Given the description of an element on the screen output the (x, y) to click on. 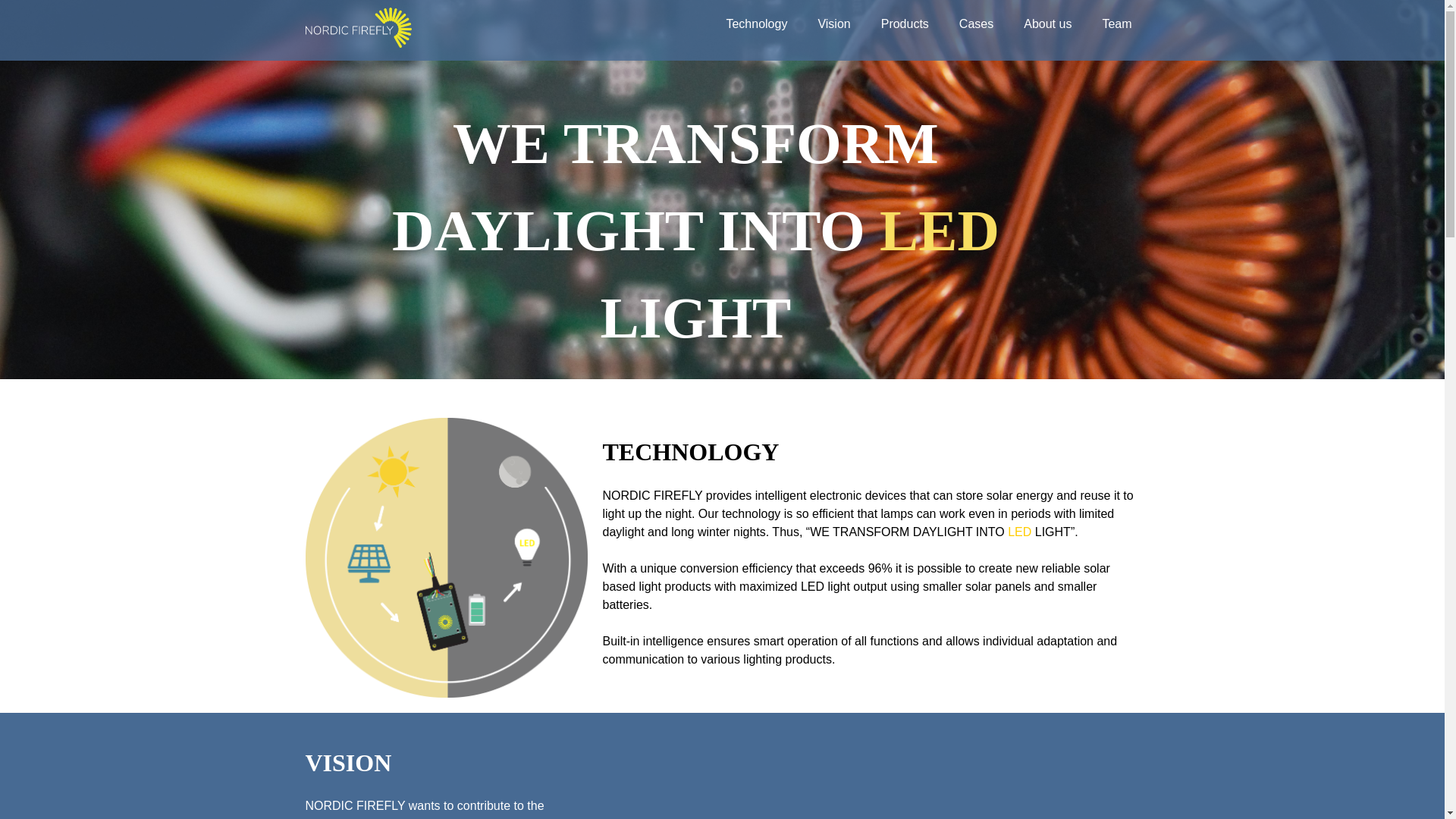
Vision (833, 24)
Cases (975, 24)
Products (904, 24)
Team (1116, 24)
Technology (756, 24)
About us (1047, 24)
